Given the description of an element on the screen output the (x, y) to click on. 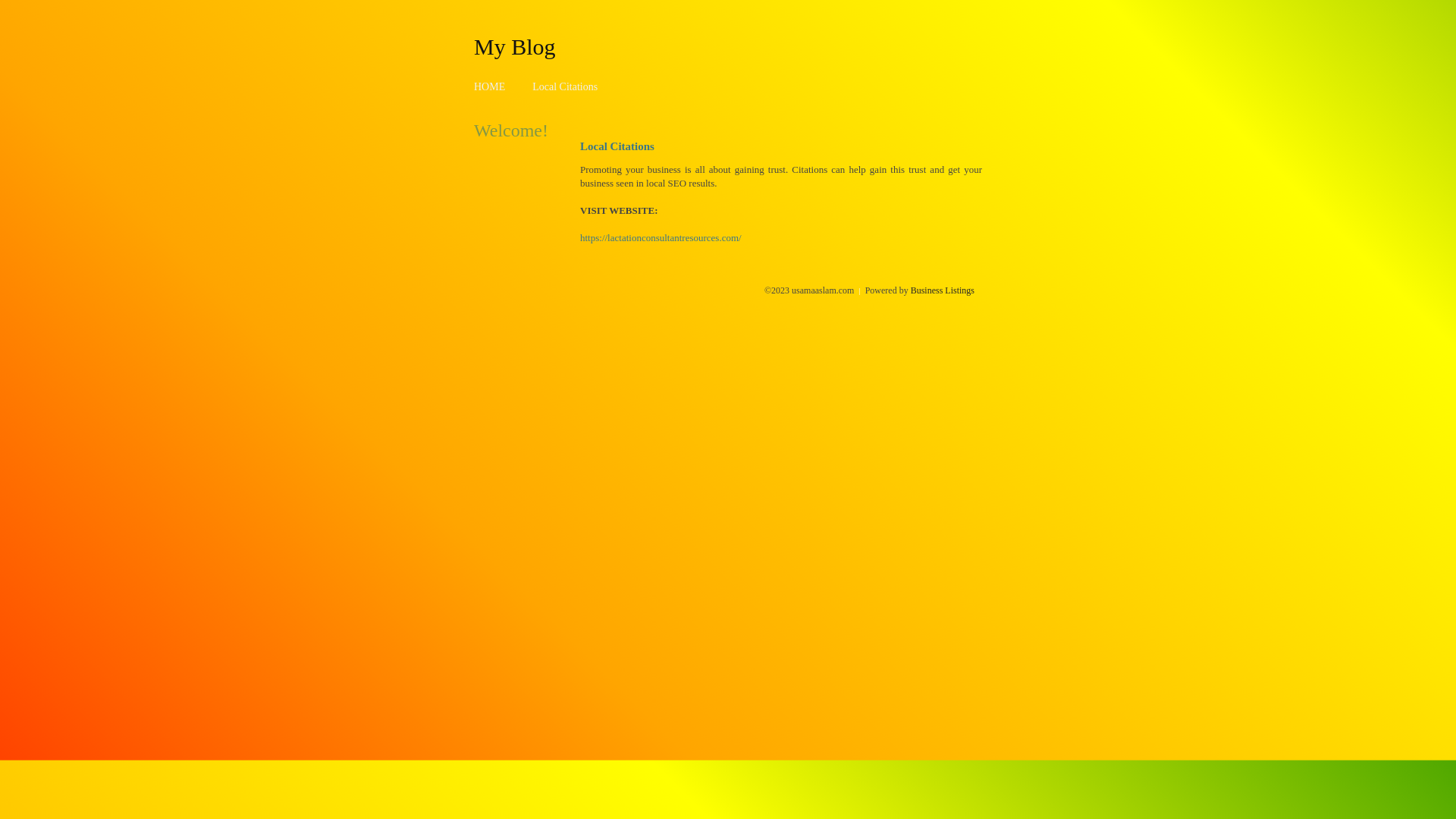
My Blog Element type: text (514, 46)
https://lactationconsultantresources.com/ Element type: text (660, 237)
HOME Element type: text (489, 86)
Local Citations Element type: text (564, 86)
Business Listings Element type: text (942, 290)
